Given the description of an element on the screen output the (x, y) to click on. 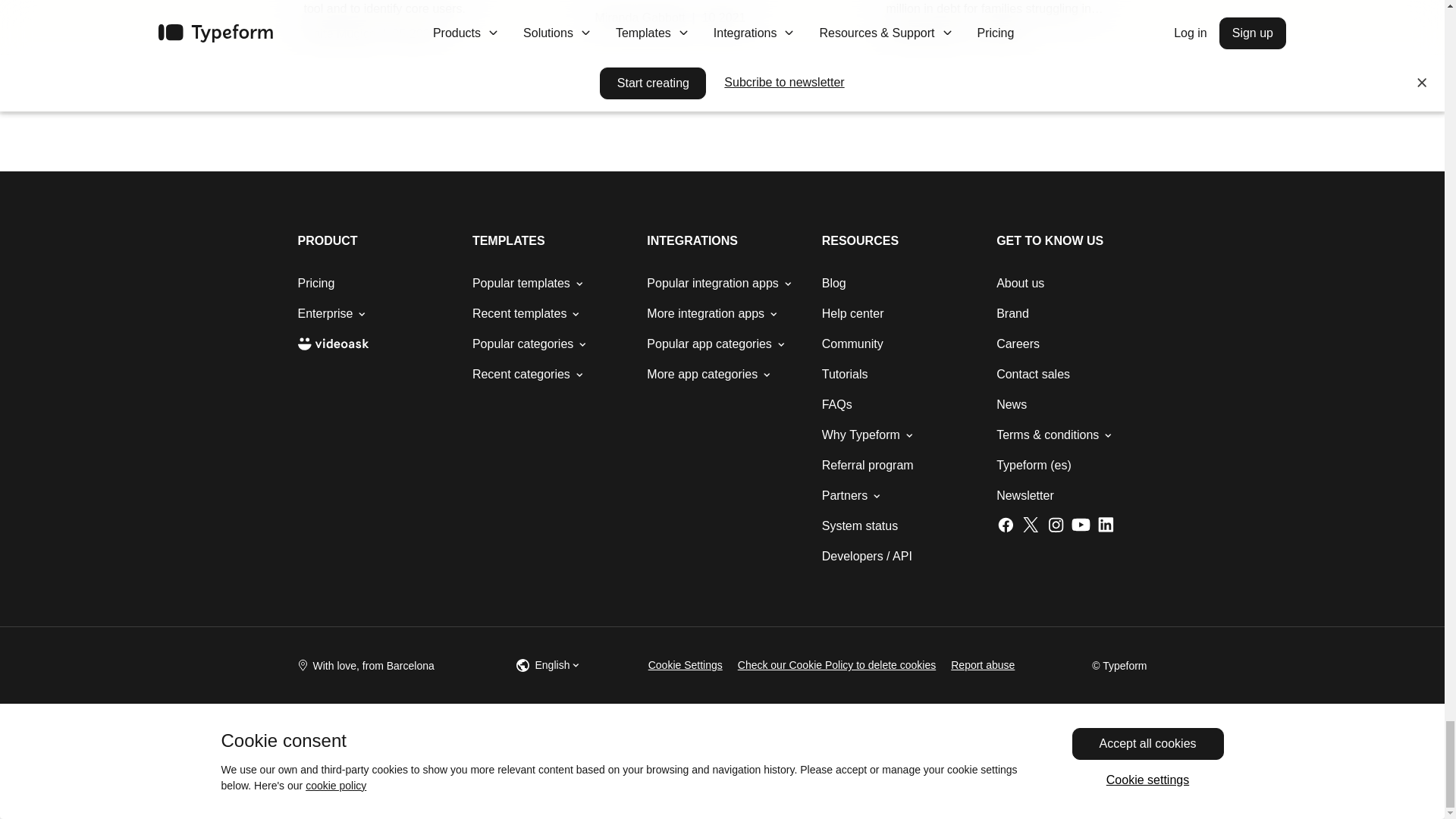
VideoAsk (332, 343)
